Given the description of an element on the screen output the (x, y) to click on. 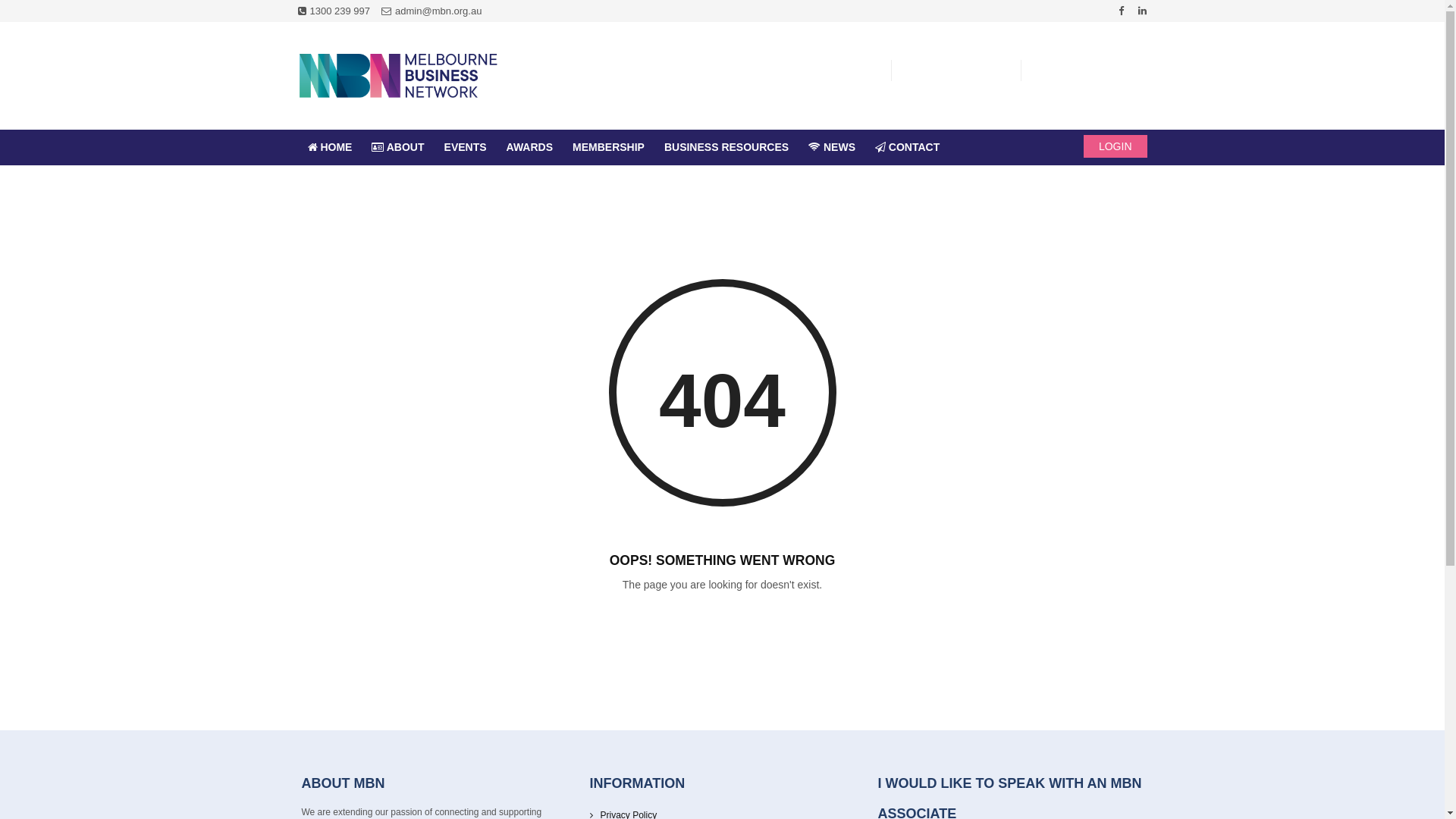
Facebook Element type: hover (1120, 10)
HOME Element type: text (329, 147)
Melbourne Business Network Element type: hover (397, 75)
BUSINESS RESOURCES Element type: text (726, 147)
NEWS Element type: text (831, 147)
1300 239 997 Element type: text (333, 10)
ABOUT Element type: text (397, 147)
Events/Webinars Element type: text (960, 71)
EVENTS Element type: text (465, 147)
Take Business Audit Element type: text (820, 71)
MEMBERSHIP Element type: text (608, 147)
LOGIN Element type: text (1115, 145)
AWARDS Element type: text (529, 147)
Become a Member Element type: text (1095, 71)
admin@mbn.org.au Element type: text (431, 10)
CONTACT Element type: text (907, 147)
LinkedIn Element type: hover (1142, 10)
